Given the description of an element on the screen output the (x, y) to click on. 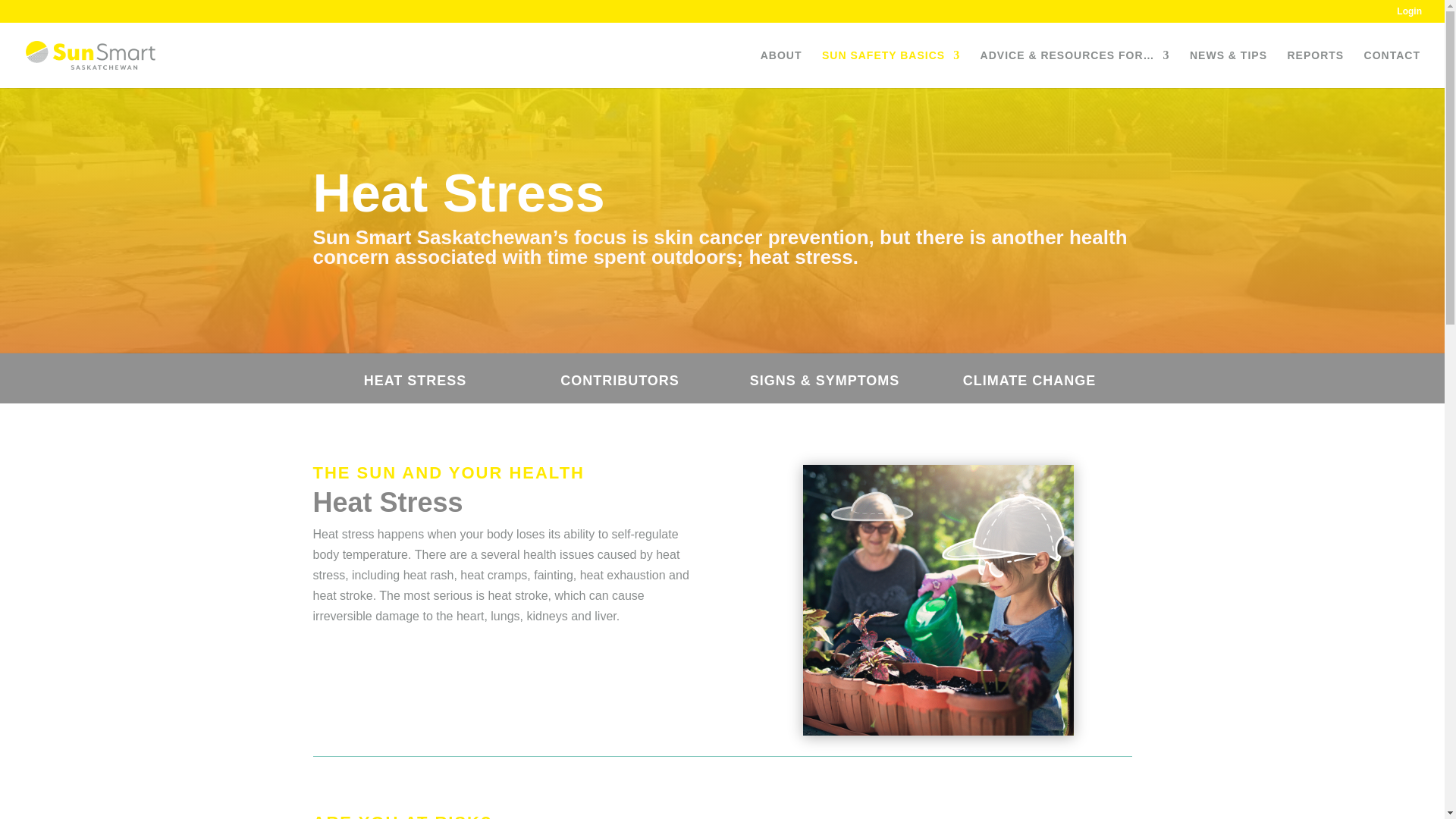
CONTACT (1392, 68)
ABOUT (781, 68)
Login (1409, 14)
SUN SAFETY BASICS (890, 68)
REPORTS (1315, 68)
